Given the description of an element on the screen output the (x, y) to click on. 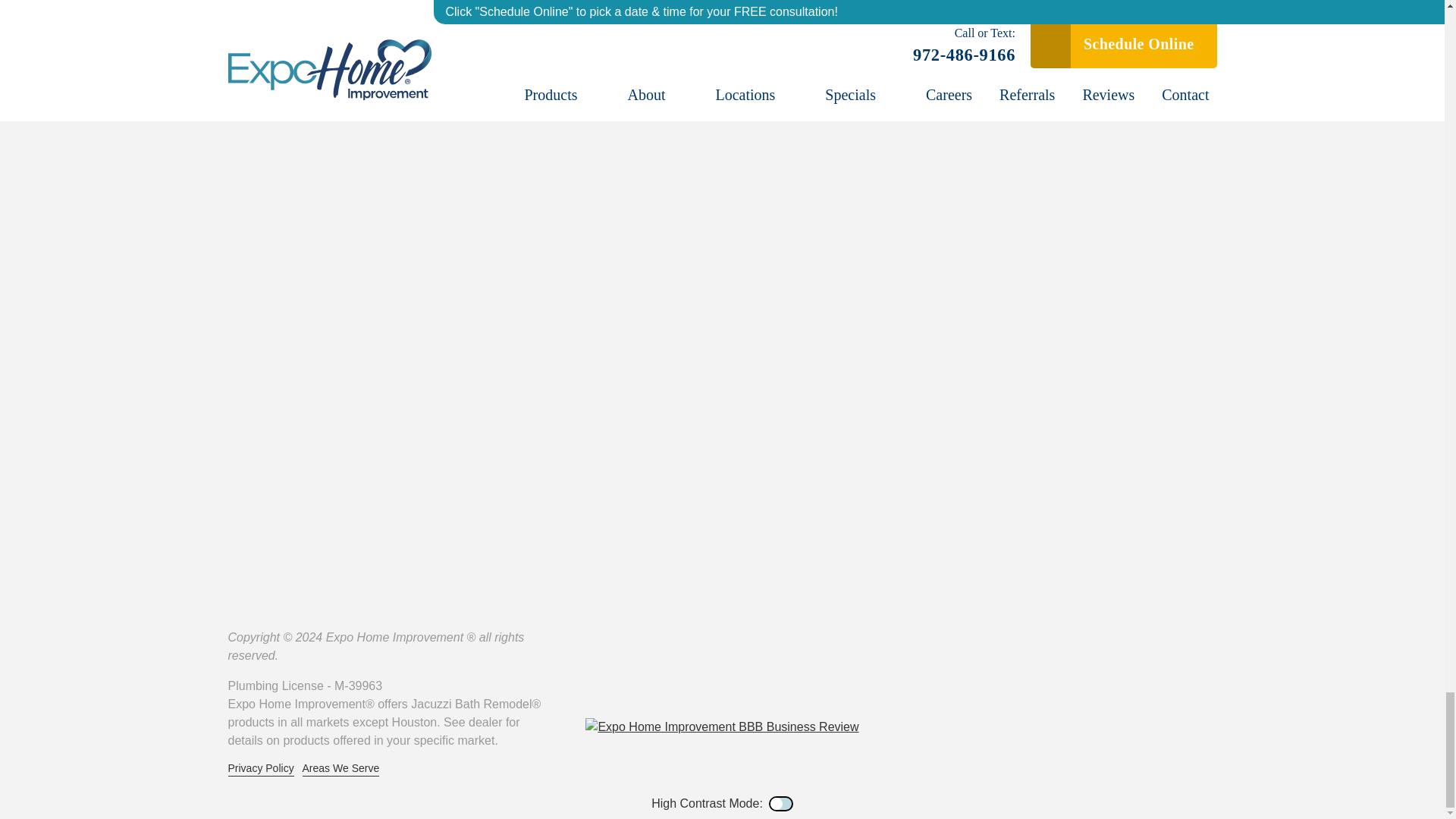
YouTube (722, 686)
Instagram (797, 686)
Facebook (646, 686)
LinkedIn (759, 686)
